Given the description of an element on the screen output the (x, y) to click on. 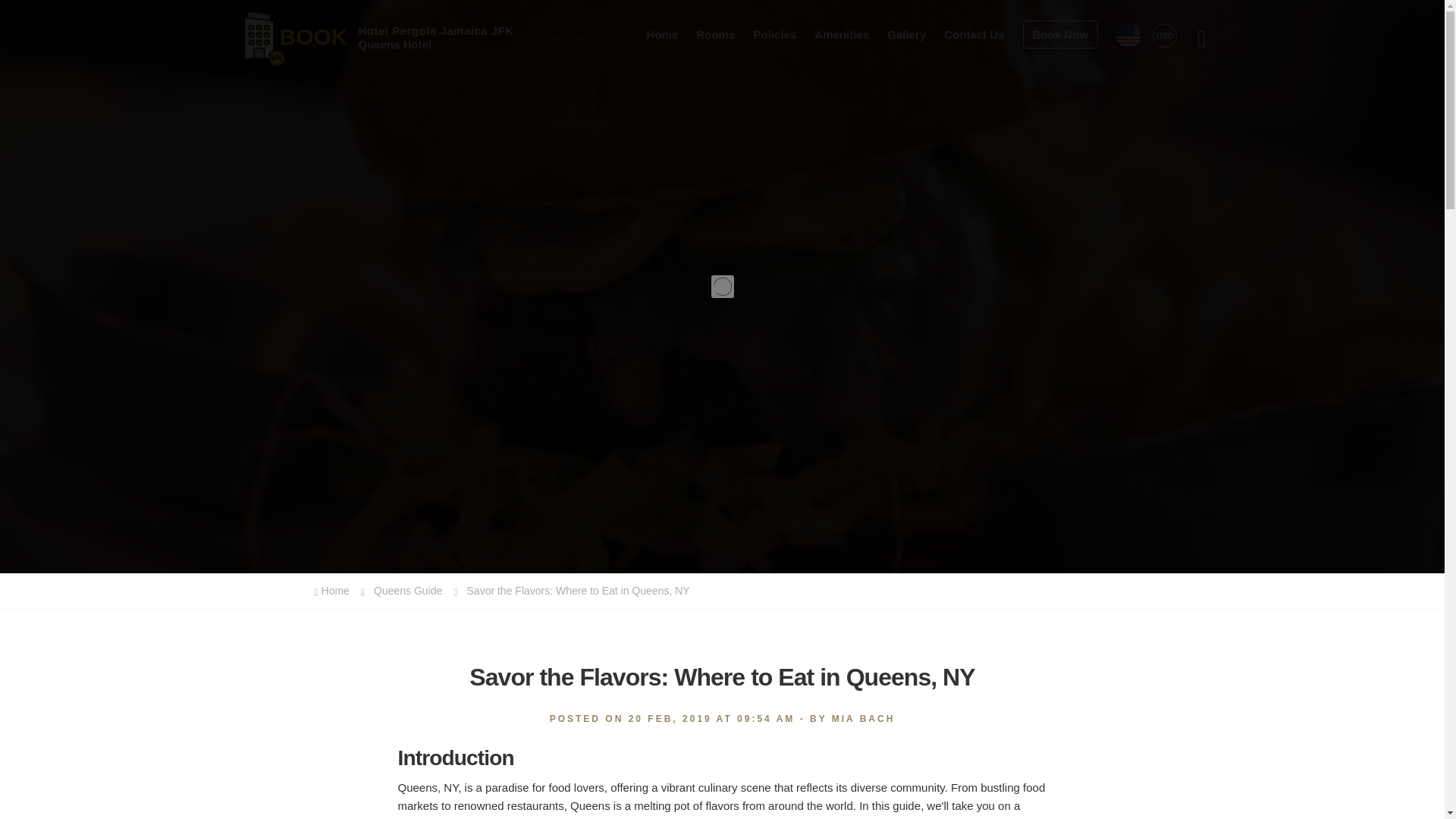
Gallery (906, 33)
Rooms (340, 34)
USD (715, 33)
Amenities (1164, 35)
Policies (841, 33)
Home (774, 33)
Book Now (334, 590)
Contact Us (1060, 33)
Queens Guide (973, 33)
Home (404, 590)
